Given the description of an element on the screen output the (x, y) to click on. 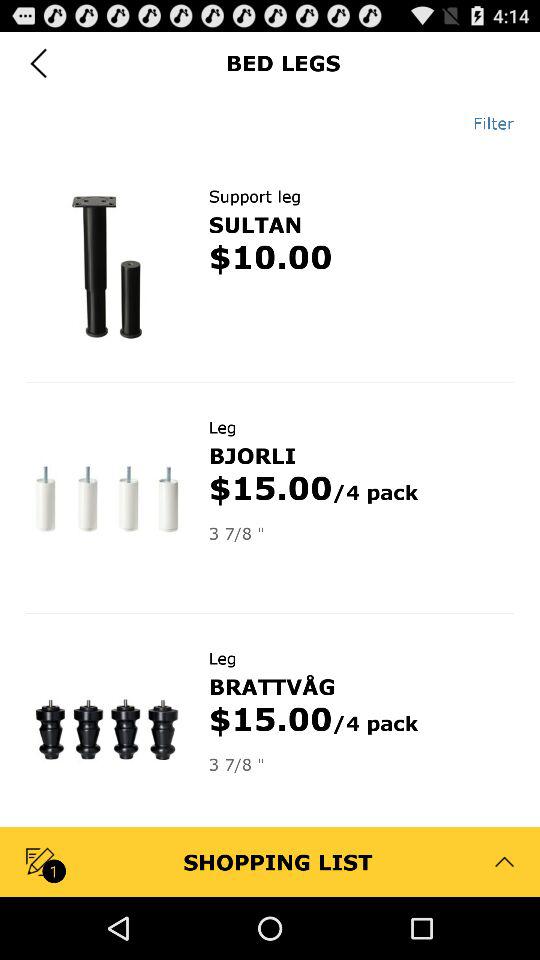
open the sultan (255, 224)
